Given the description of an element on the screen output the (x, y) to click on. 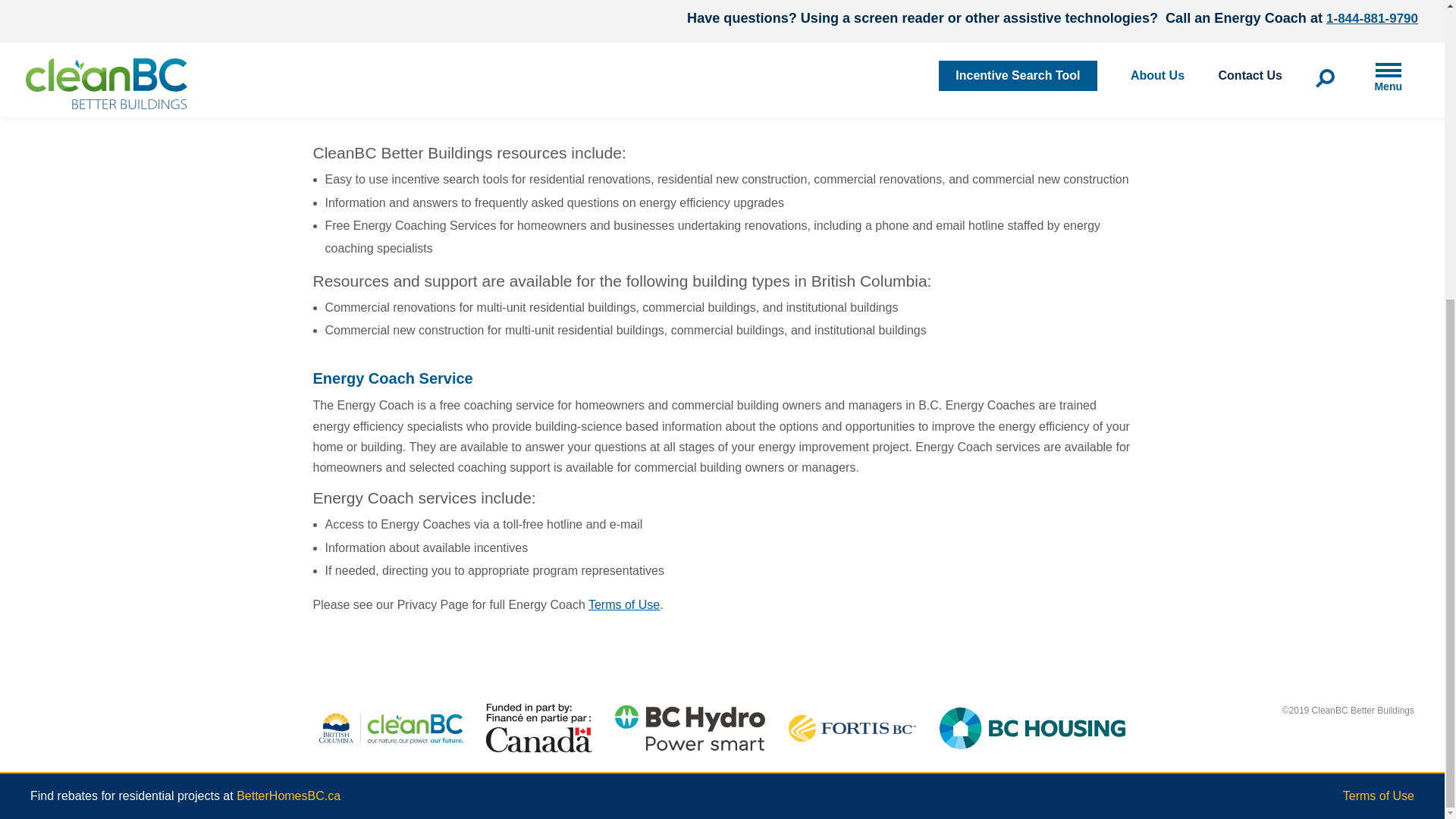
BetterHomesBC.ca (287, 795)
Terms of Use (623, 604)
Terms of Use (1377, 795)
Low Carbon Economy Leadership Fund (603, 78)
